Given the description of an element on the screen output the (x, y) to click on. 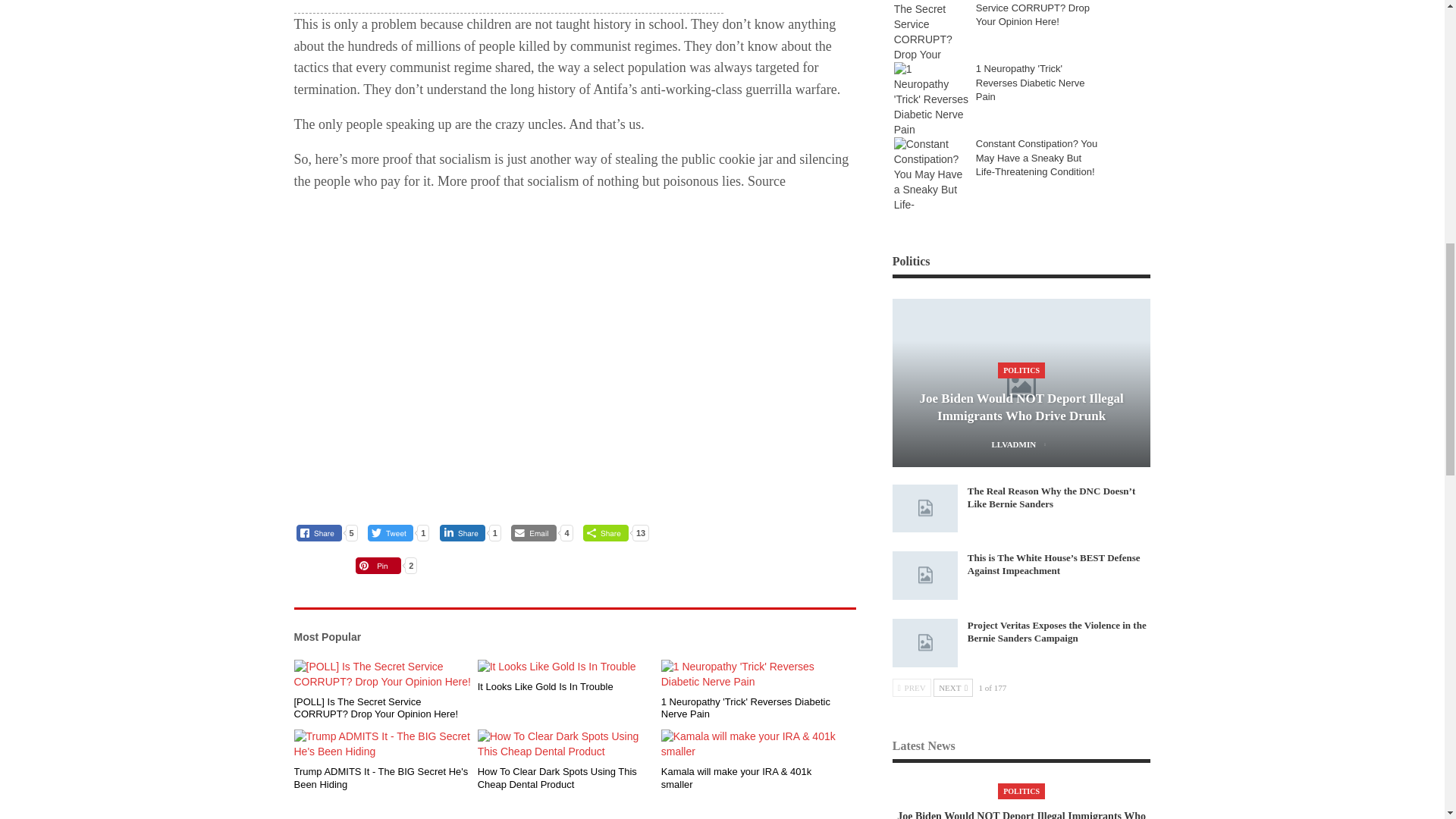
1 Neuropathy 'Trick' Reverses Diabetic Nerve Pain (750, 675)
How To Clear Dark Spots Using This Cheap Dental Product (566, 744)
It Looks Like Gold Is In Trouble (566, 667)
Trump ADMITS It - The BIG Secret He's Been Hiding (382, 744)
